Given the description of an element on the screen output the (x, y) to click on. 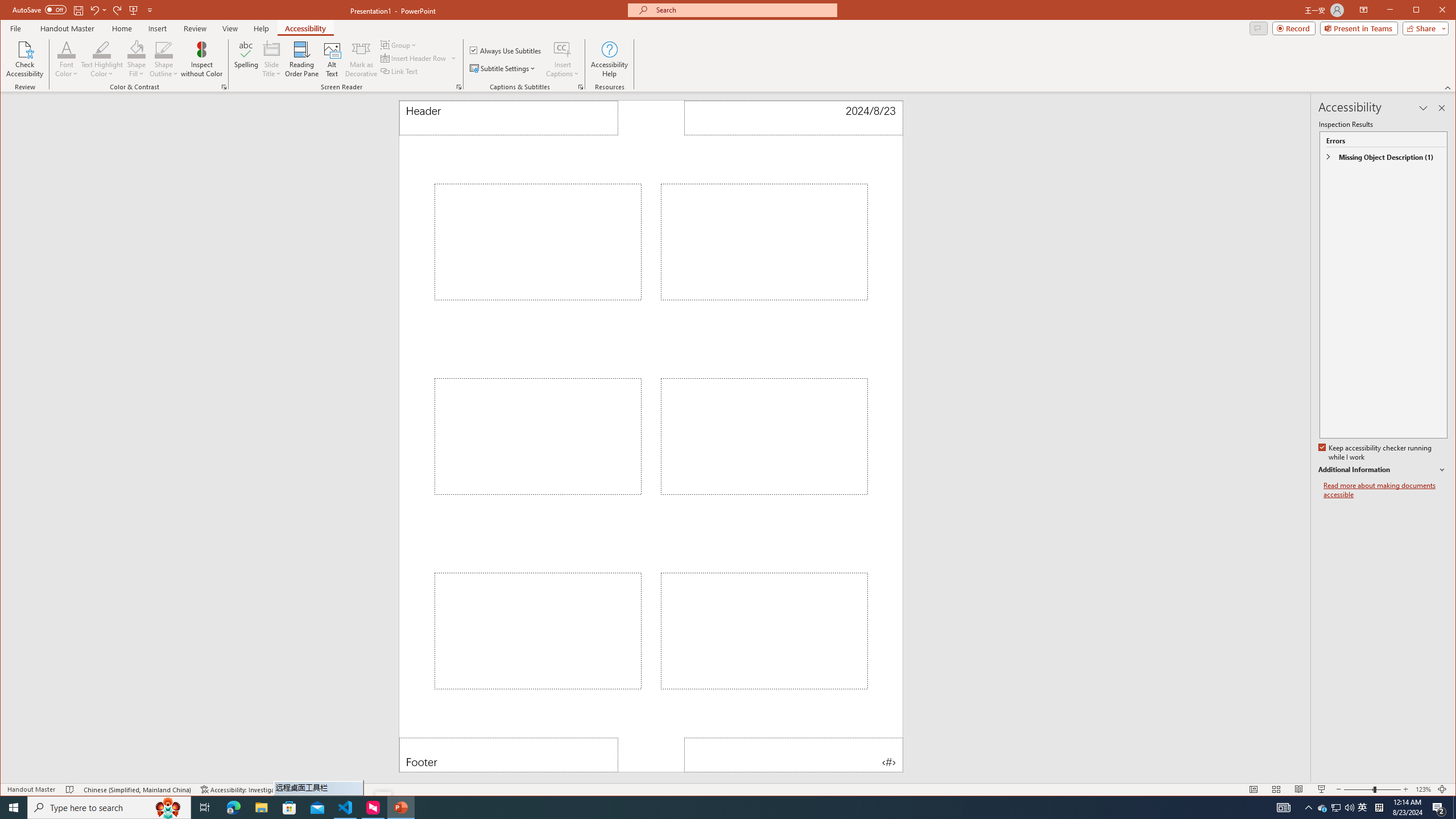
Font Color (1362, 807)
Shape Outline (66, 59)
Always Use Subtitles (163, 59)
Group (505, 49)
Footer (399, 44)
Start (508, 754)
Action Center, 2 new notifications (13, 807)
